Given the description of an element on the screen output the (x, y) to click on. 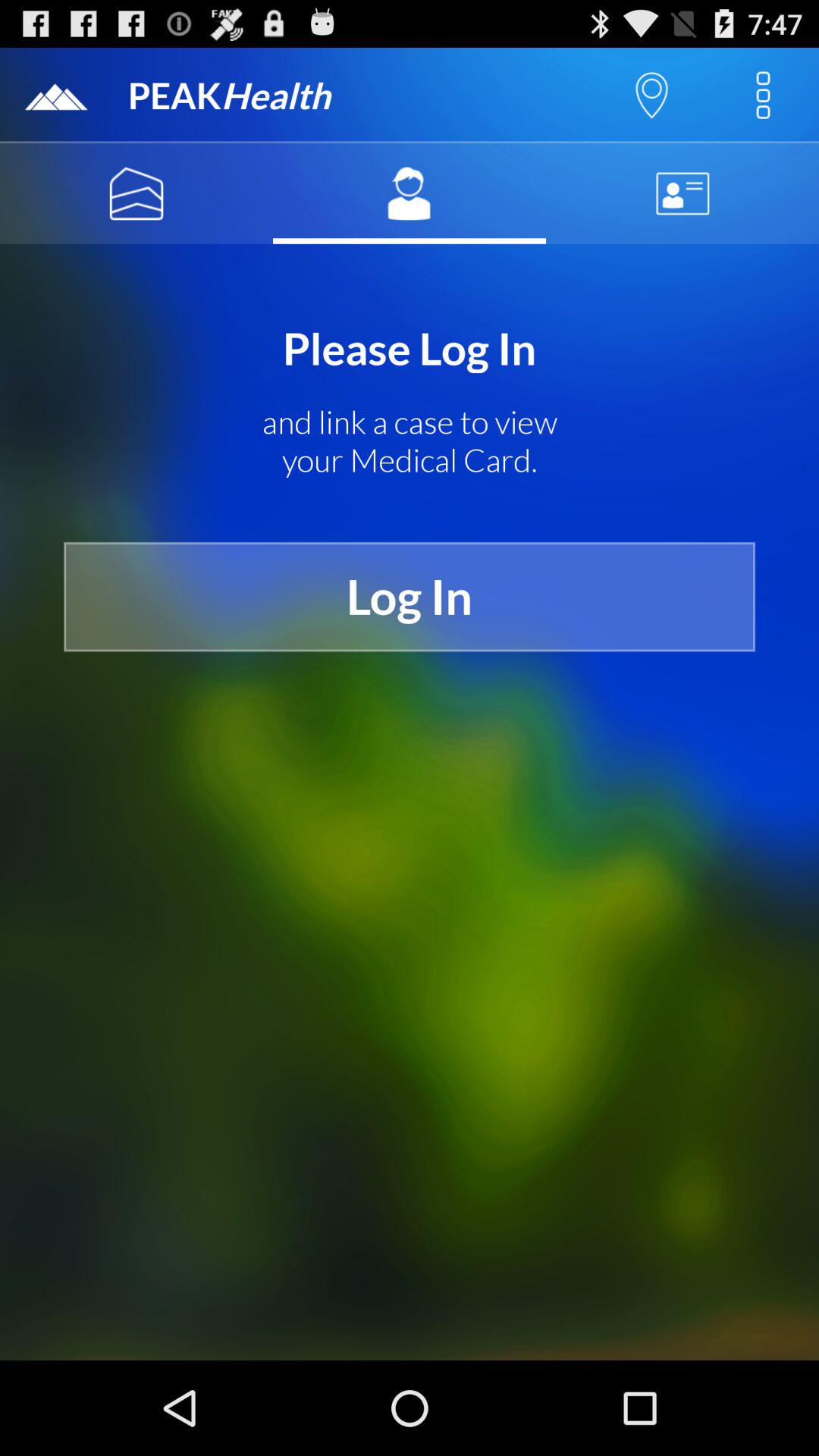
jump to the and link a icon (409, 441)
